Given the description of an element on the screen output the (x, y) to click on. 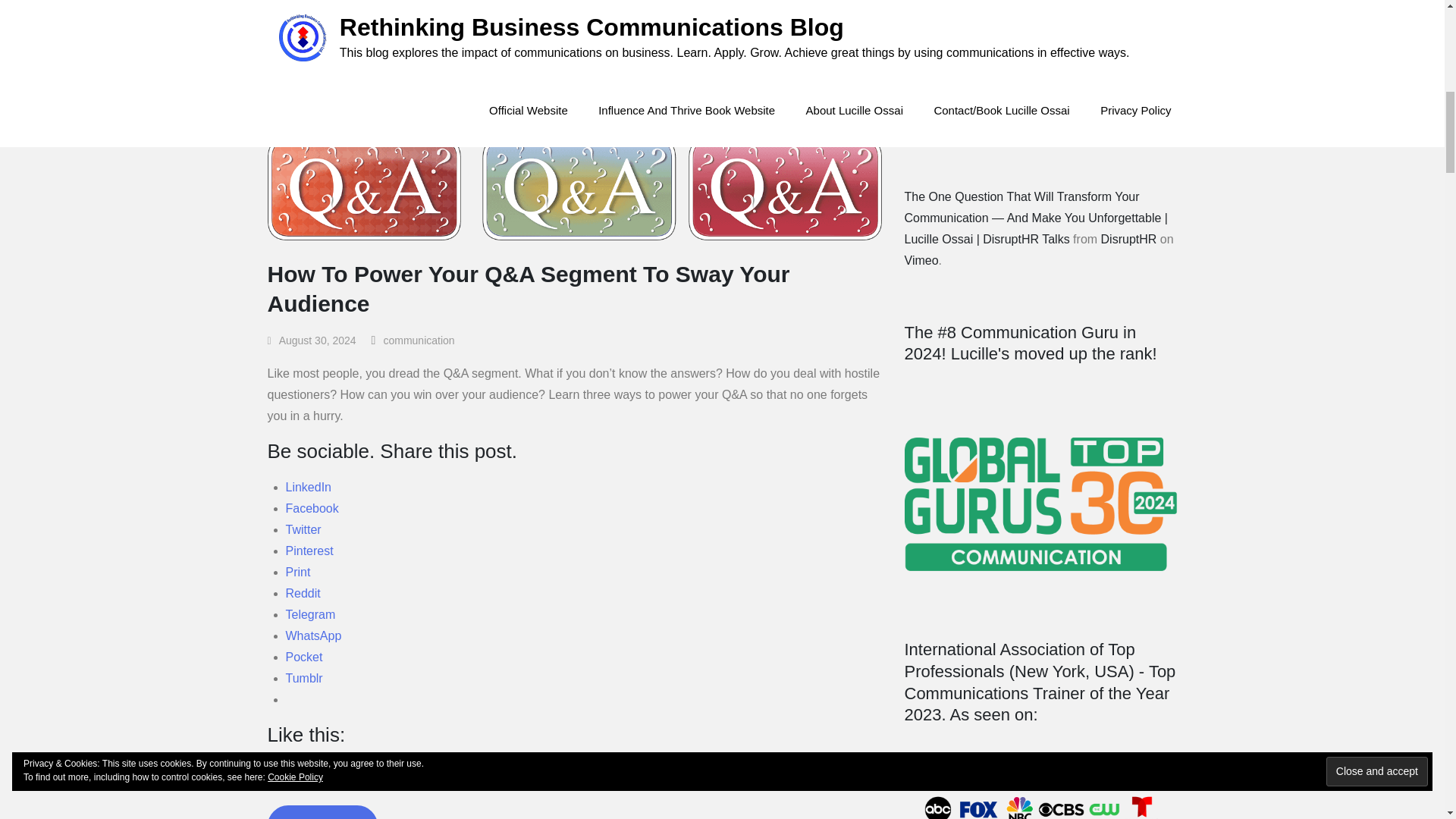
Click to share on Pinterest (309, 550)
Click to share on Reddit (302, 593)
LinkedIn (308, 486)
Click to share on Tumblr (303, 677)
Pinterest (309, 550)
Click to share on Telegram (309, 614)
August 30, 2024 (310, 340)
Telegram (309, 614)
Click to share on WhatsApp (312, 635)
Click to share on Facebook (311, 508)
